Given the description of an element on the screen output the (x, y) to click on. 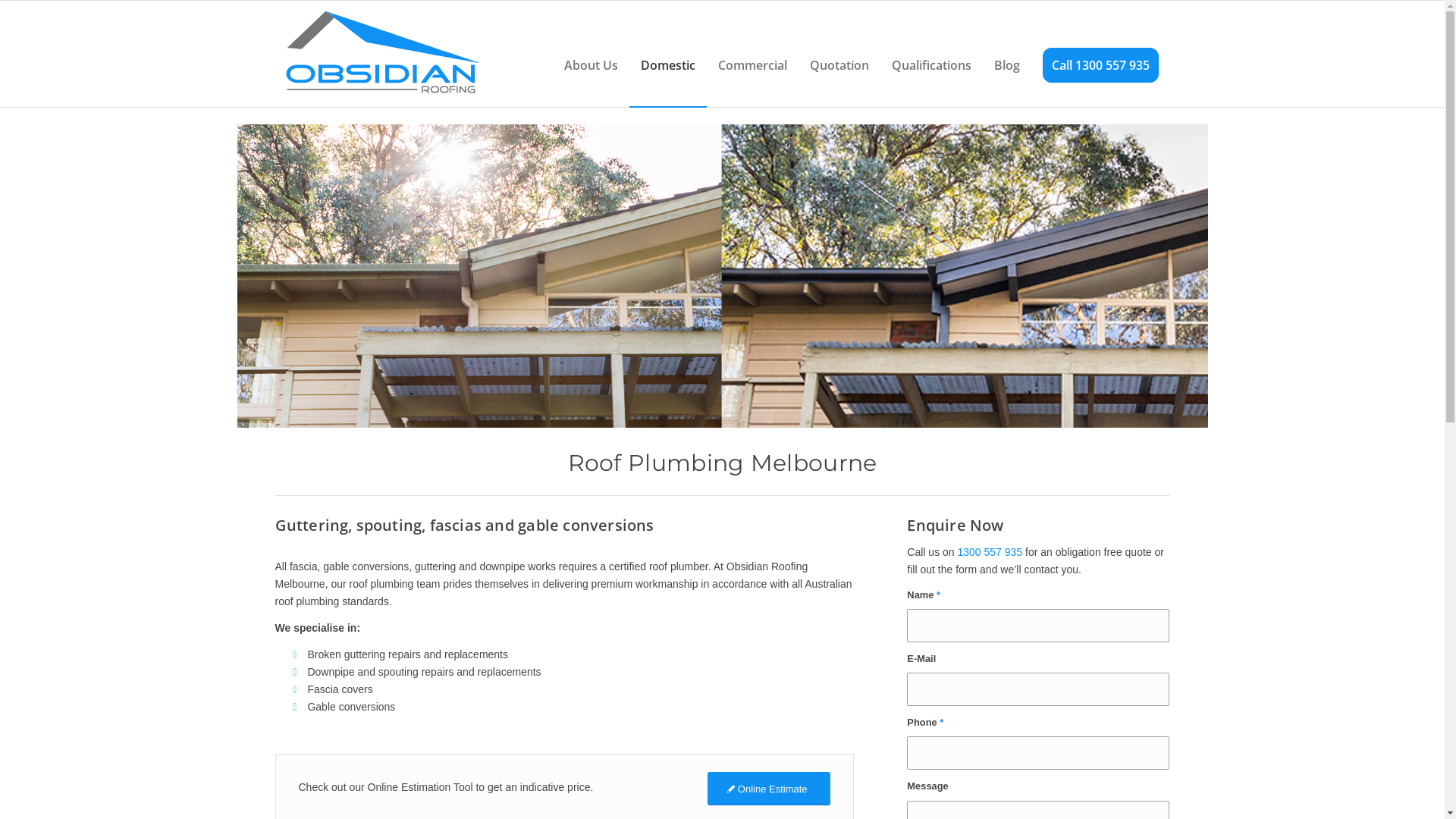
Online Estimate Element type: text (768, 788)
Quotation Element type: text (838, 53)
Blog Element type: text (1006, 53)
Commercial Element type: text (752, 53)
Domestic Element type: text (667, 53)
About Us Element type: text (590, 53)
1300 557 935 Element type: text (989, 552)
Qualifications Element type: text (930, 53)
Call 1300 557 935 Element type: text (1100, 53)
